Given the description of an element on the screen output the (x, y) to click on. 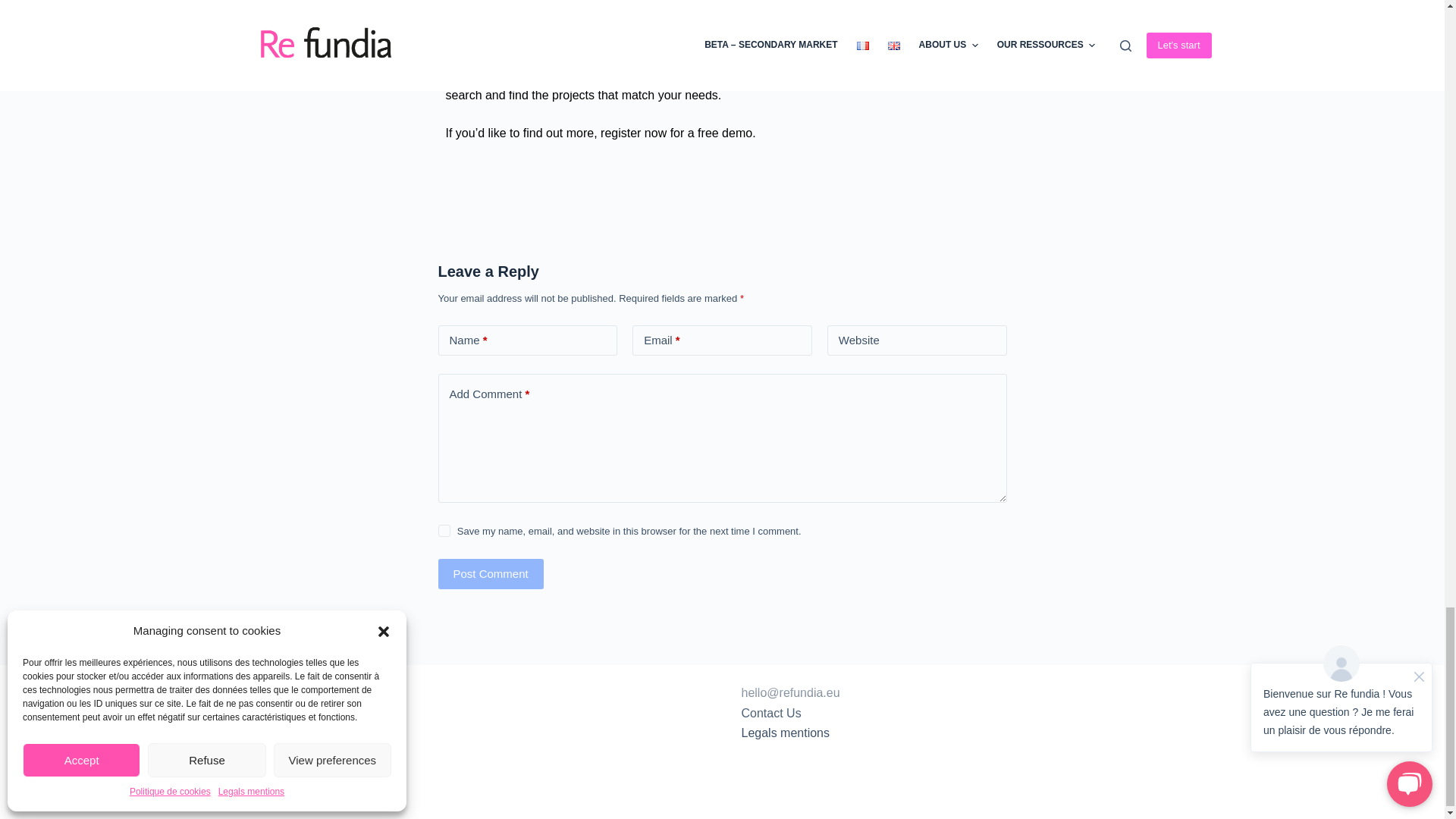
yes (443, 530)
